Given the description of an element on the screen output the (x, y) to click on. 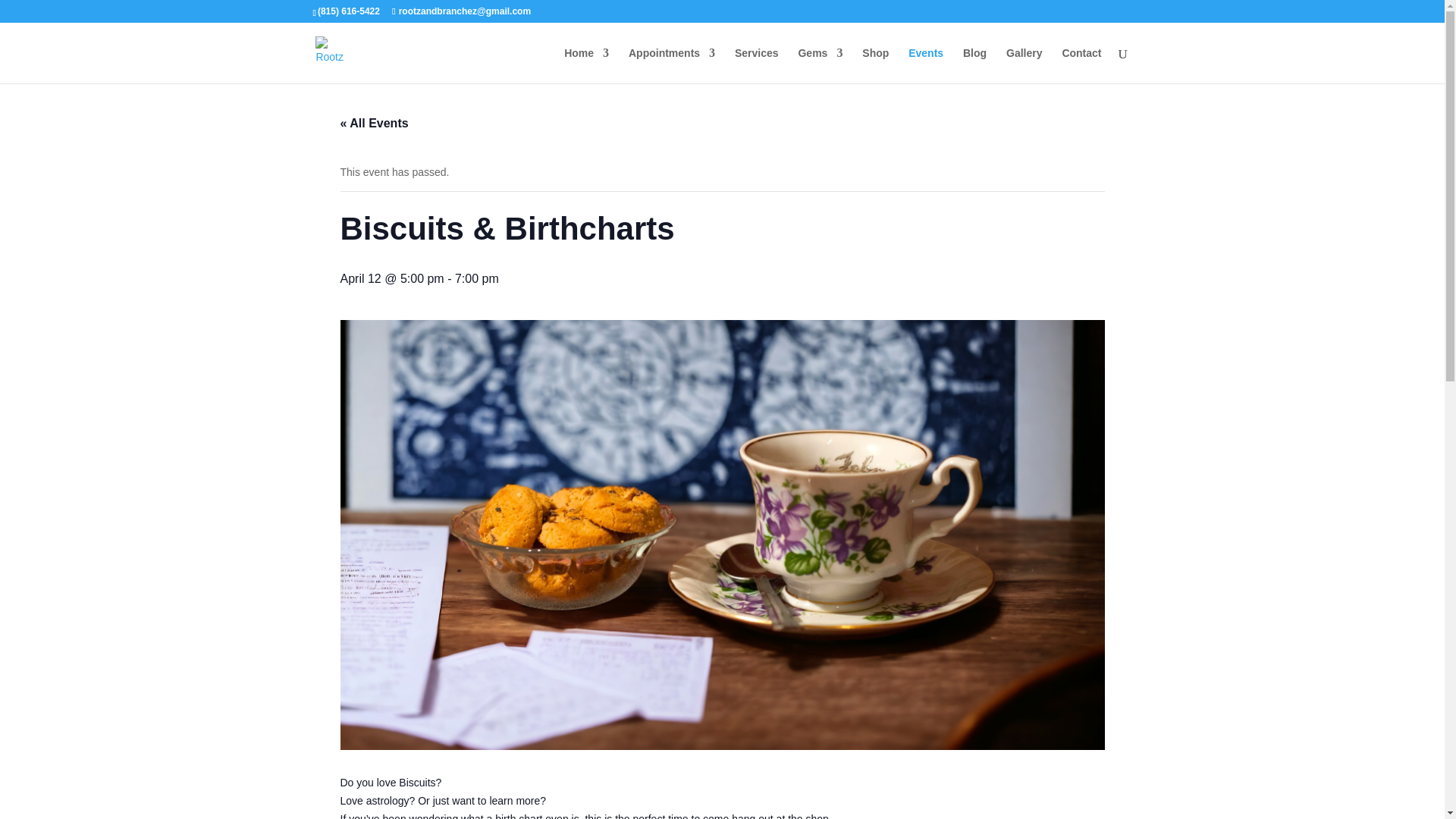
Contact (1080, 65)
Gallery (1024, 65)
Home (586, 65)
Gems (820, 65)
Events (925, 65)
Appointments (671, 65)
Services (756, 65)
